Given the description of an element on the screen output the (x, y) to click on. 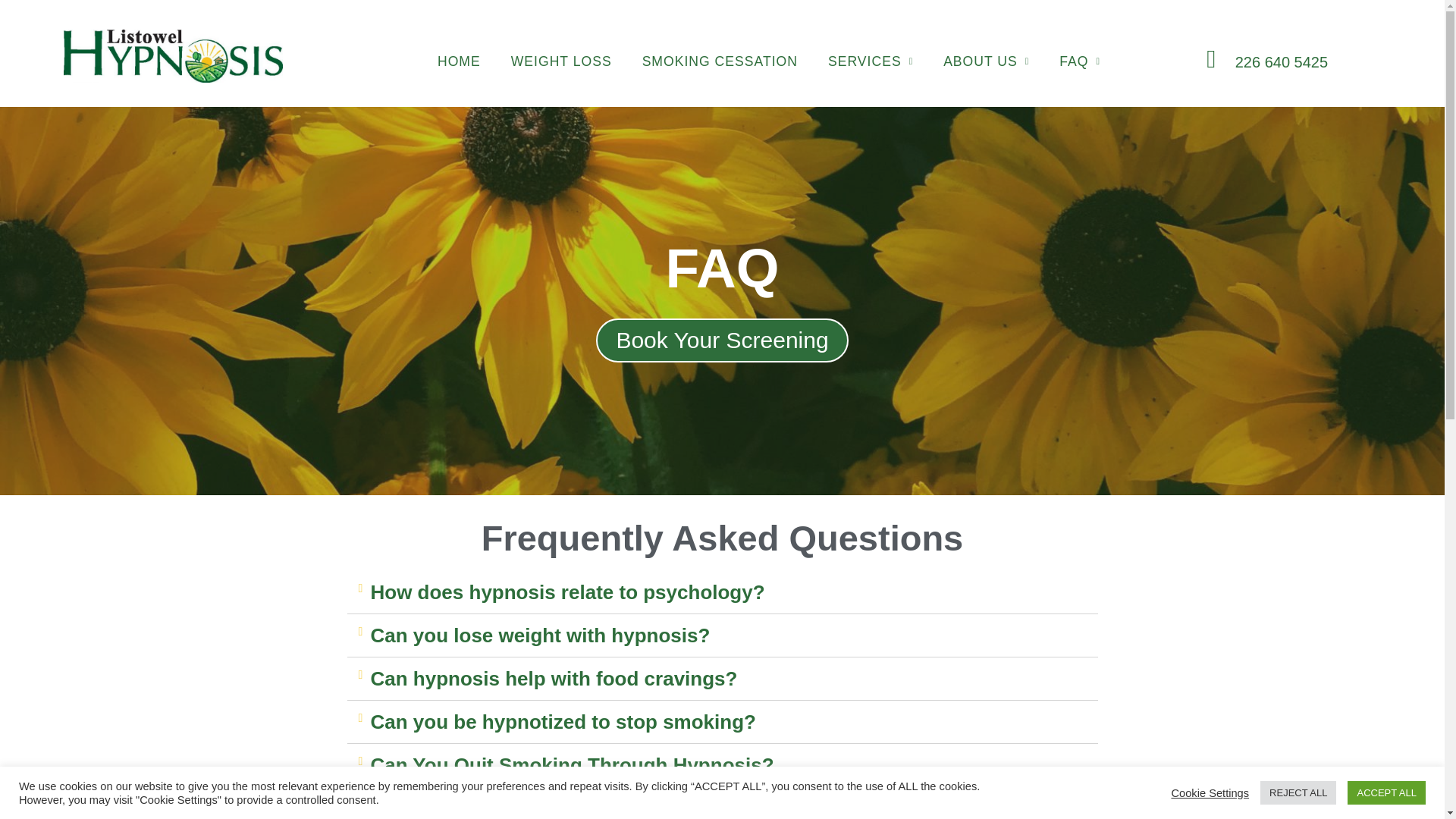
SERVICES (870, 61)
Can hypnosis cure anxiety? (500, 807)
226 640 5425 (1280, 62)
ABOUT US (985, 61)
Can you lose weight with hypnosis? (539, 635)
Can you be hypnotized to stop smoking? (562, 721)
Can You Quit Smoking Through Hypnosis? (571, 764)
WEIGHT LOSS (561, 61)
Can hypnosis help with food cravings? (552, 678)
HOME (459, 61)
How does hypnosis relate to psychology? (566, 591)
FAQ (1079, 61)
SMOKING CESSATION (719, 61)
